Given the description of an element on the screen output the (x, y) to click on. 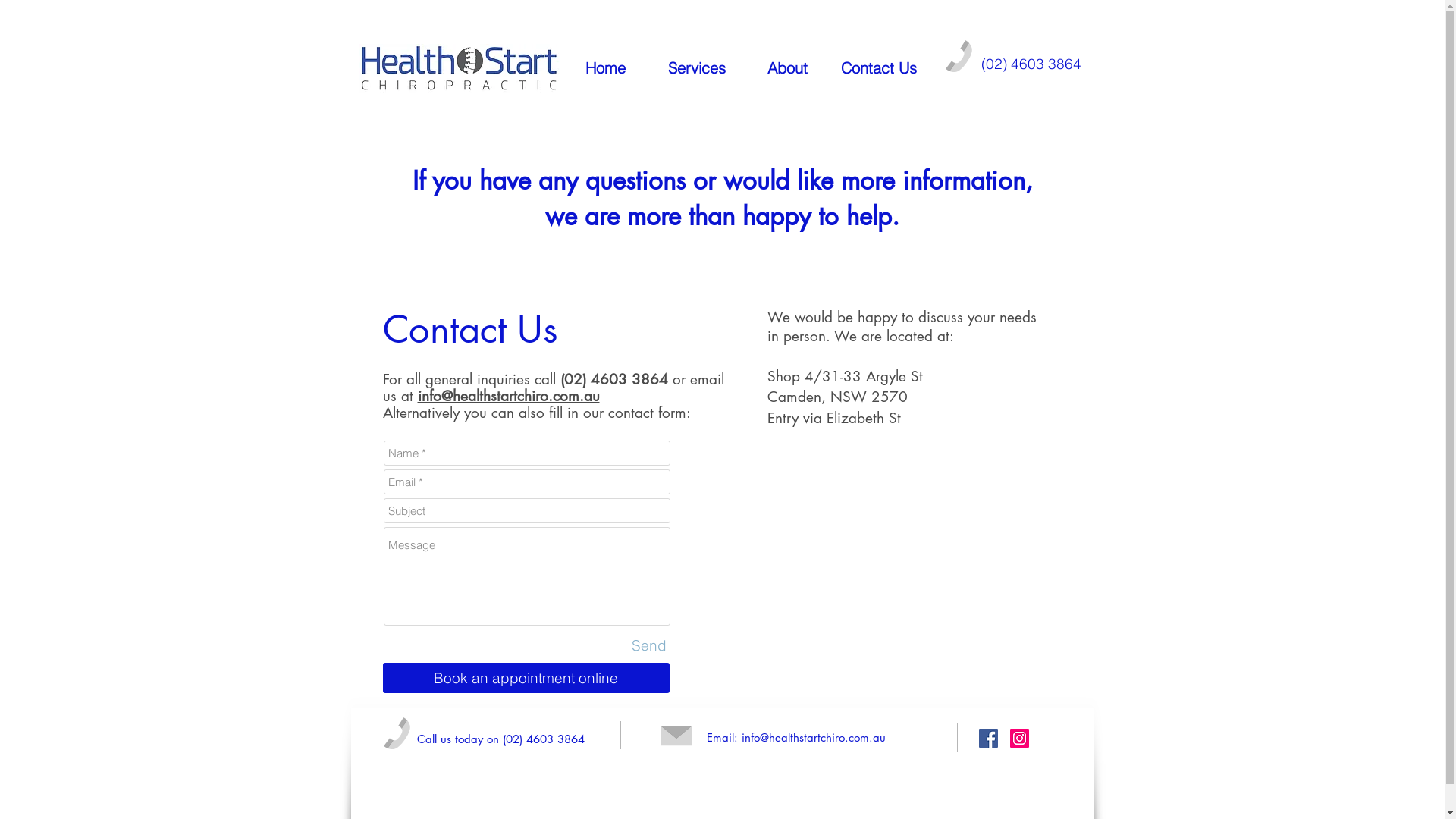
Contact Us Element type: text (877, 67)
About Element type: text (786, 67)
info@healthstartchiro.com.au Element type: text (508, 395)
Services Element type: text (695, 67)
Book an appointment online Element type: text (525, 677)
info@healthstartchiro.com.au Element type: text (813, 737)
Google Maps Element type: hover (904, 572)
Send Element type: text (648, 644)
Home Element type: text (604, 67)
